Given the description of an element on the screen output the (x, y) to click on. 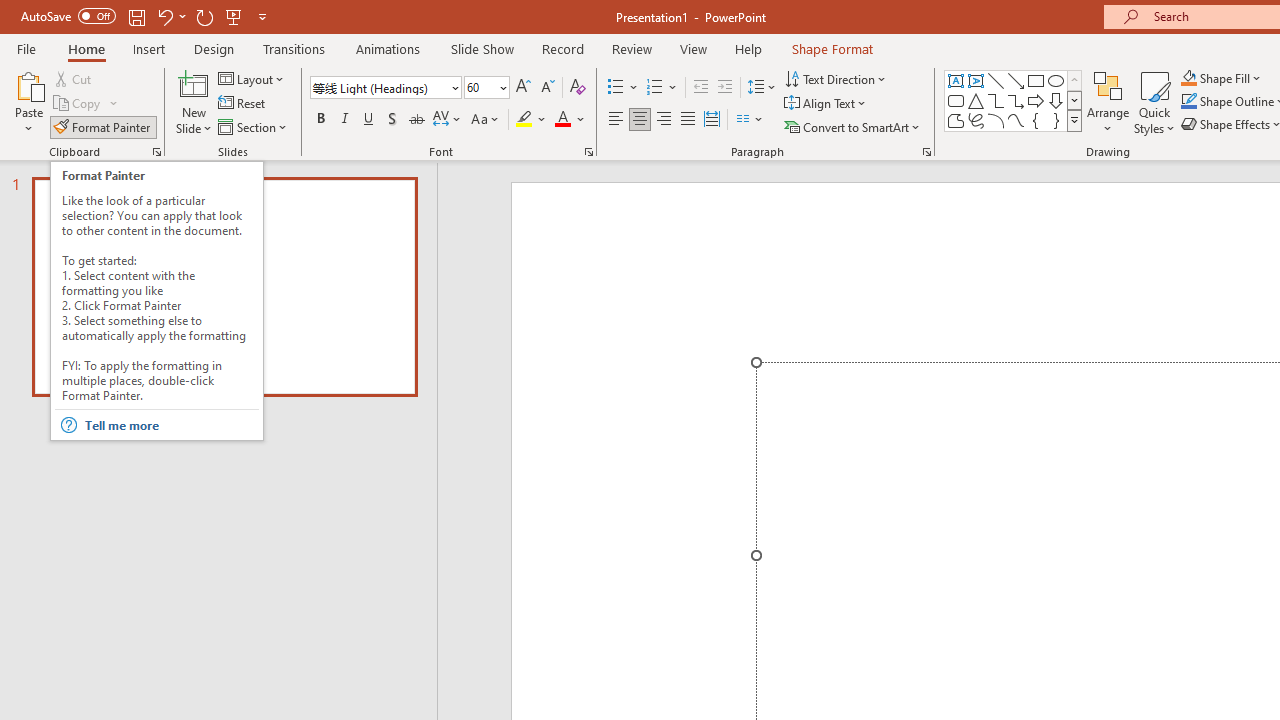
Record (562, 48)
Open (502, 87)
More Options (1232, 78)
Save (136, 15)
Format Painter (103, 126)
Connector: Elbow (995, 100)
Shadow (392, 119)
Clear Formatting (577, 87)
Bullets (623, 87)
Row up (1074, 79)
Tell me more (170, 425)
Rectangle (1035, 80)
Font (379, 87)
Transitions (294, 48)
Reset (243, 103)
